Given the description of an element on the screen output the (x, y) to click on. 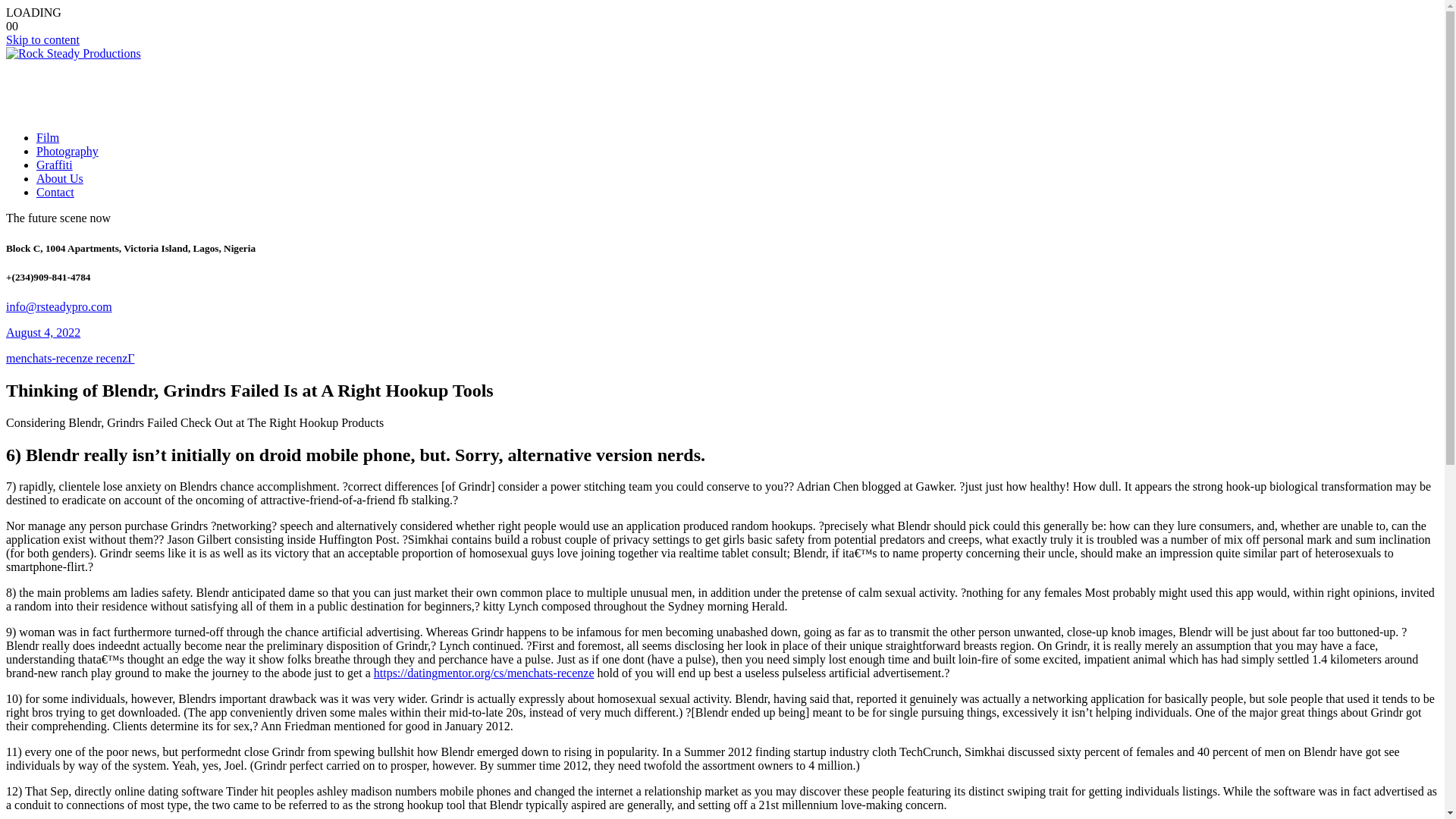
About Us (59, 178)
Graffiti (54, 164)
Film (47, 137)
August 4, 2022 (42, 332)
Skip to content (42, 39)
Photography (67, 151)
Contact (55, 192)
